Given the description of an element on the screen output the (x, y) to click on. 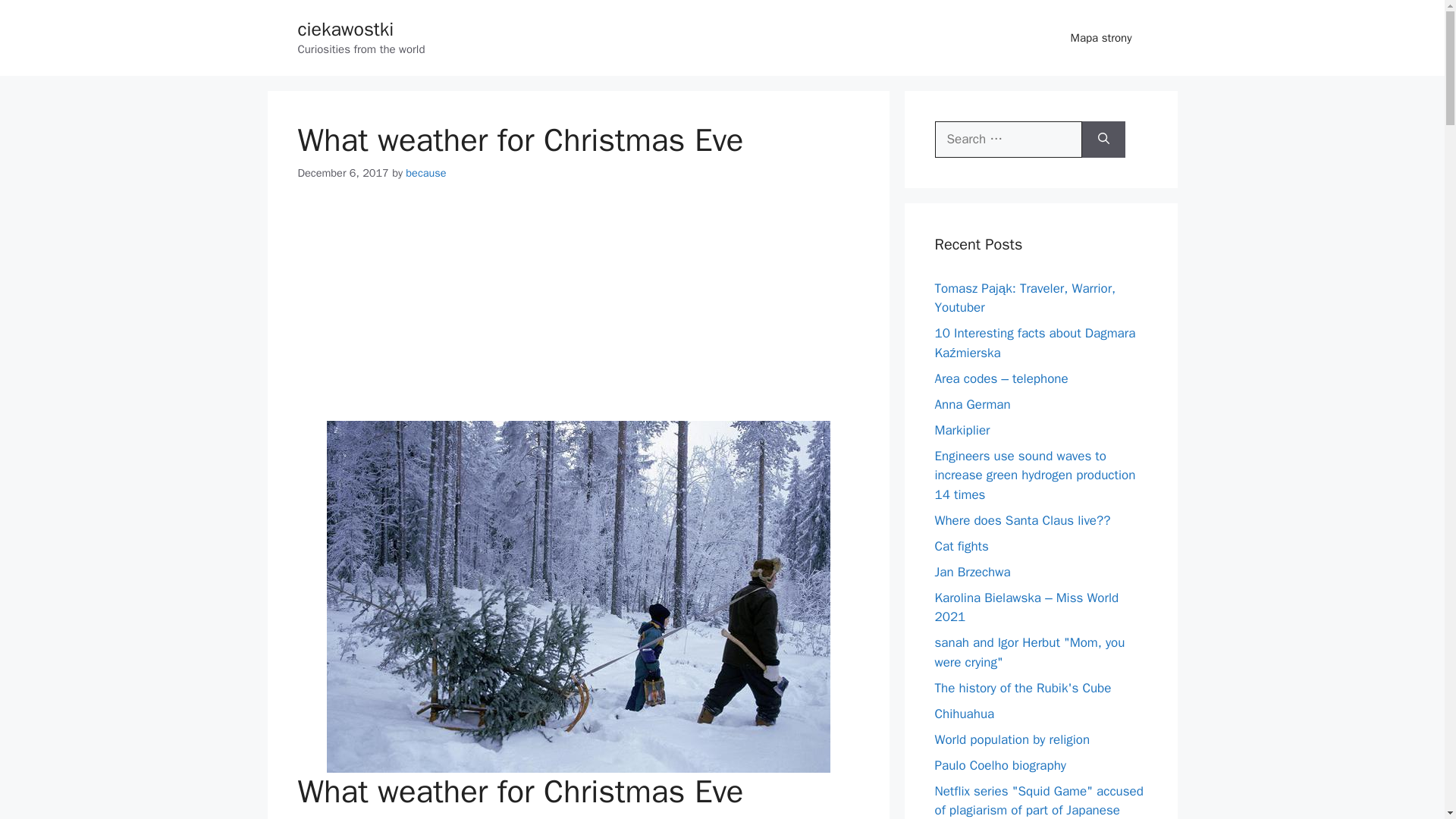
sanah and Igor Herbut "Mom, you were crying" (1029, 652)
View all posts by because (425, 172)
Advertisement (577, 313)
Where does Santa Claus live?? (1021, 520)
Mapa strony (1101, 37)
Paulo Coelho biography (999, 764)
Markiplier (962, 429)
ciekawostki (345, 28)
because (425, 172)
